Given the description of an element on the screen output the (x, y) to click on. 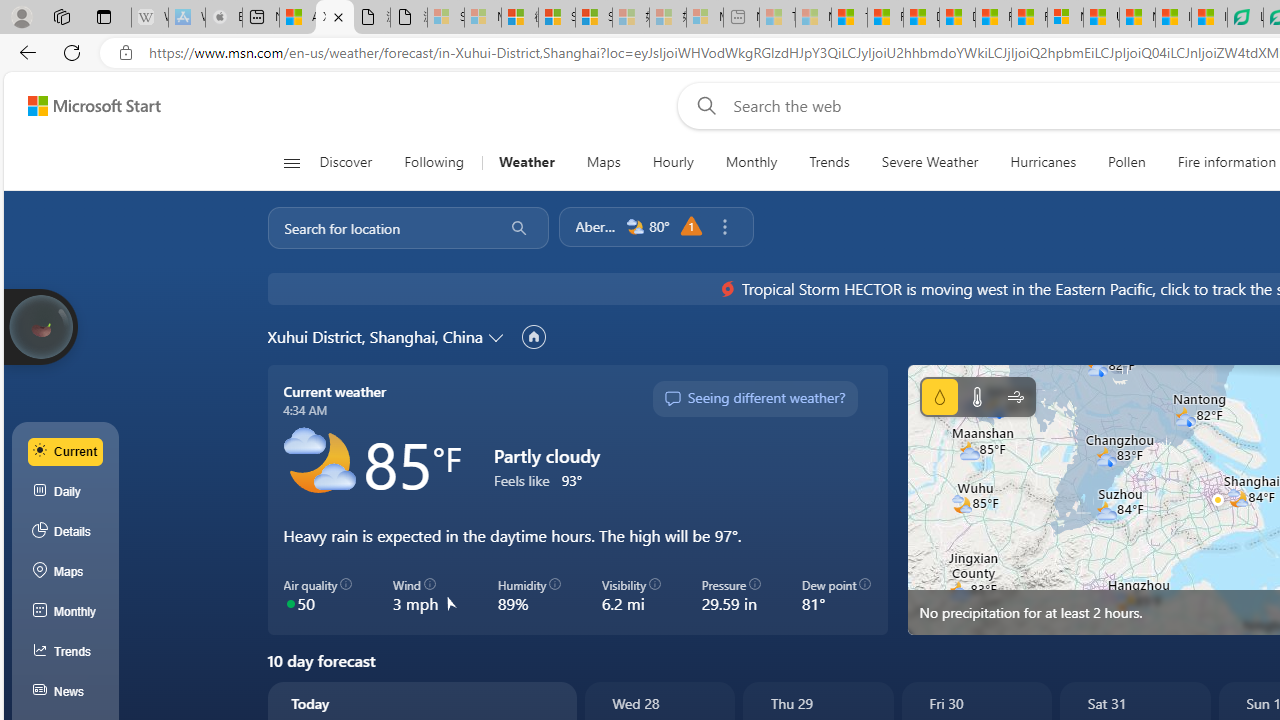
Fire information (1227, 162)
Pollen (1126, 162)
Partly cloudy (318, 462)
Hurricanes (1042, 162)
Trends (829, 162)
Web search (702, 105)
Class: aqiColorCycle-DS-EntryPoint1-1 (290, 602)
Hourly (673, 162)
Precipitation (939, 396)
Skip to content (86, 105)
